Given the description of an element on the screen output the (x, y) to click on. 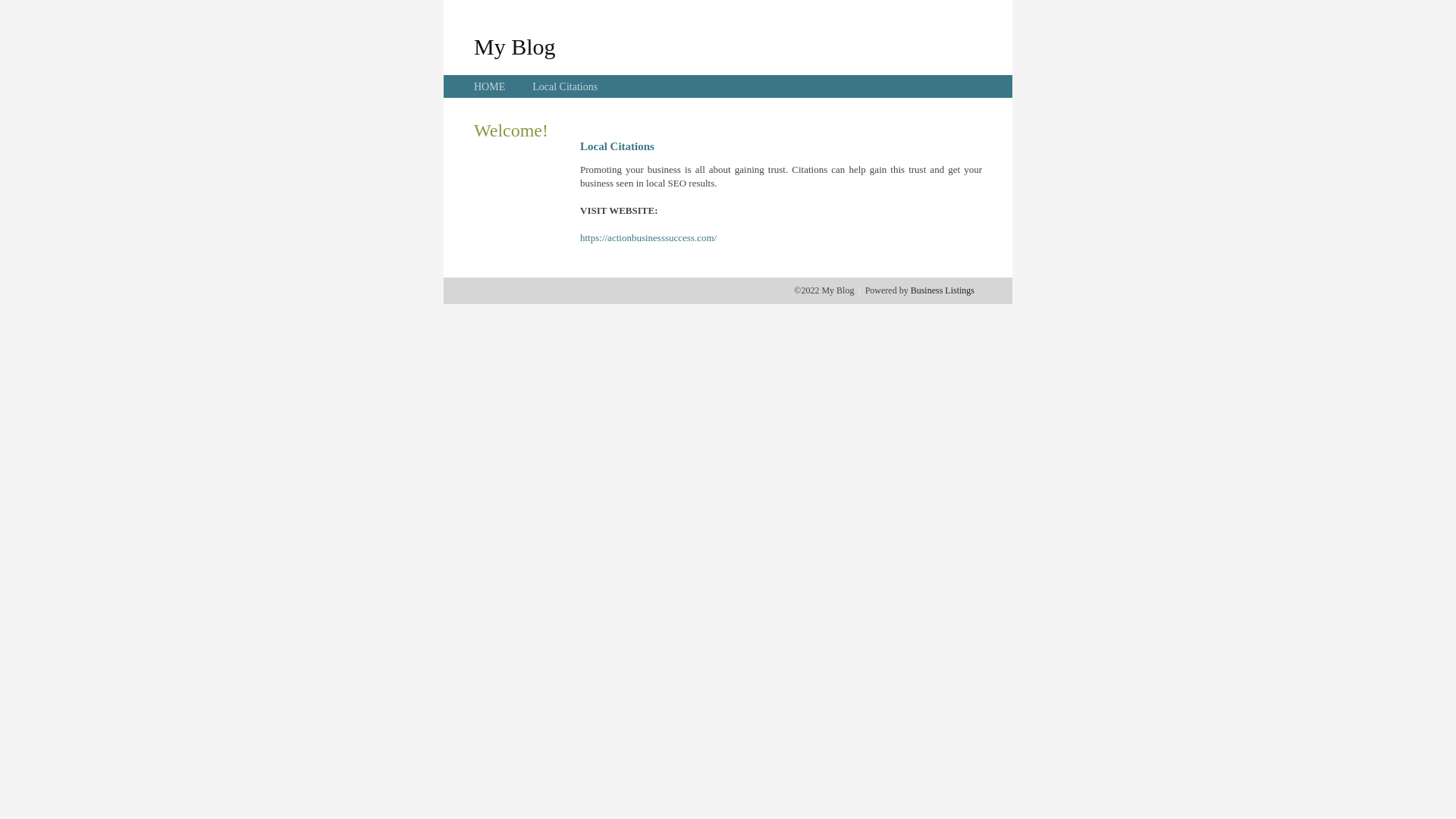
https://actionbusinesssuccess.com/ Element type: text (648, 237)
My Blog Element type: text (514, 46)
Business Listings Element type: text (942, 290)
HOME Element type: text (489, 86)
Local Citations Element type: text (564, 86)
